Given the description of an element on the screen output the (x, y) to click on. 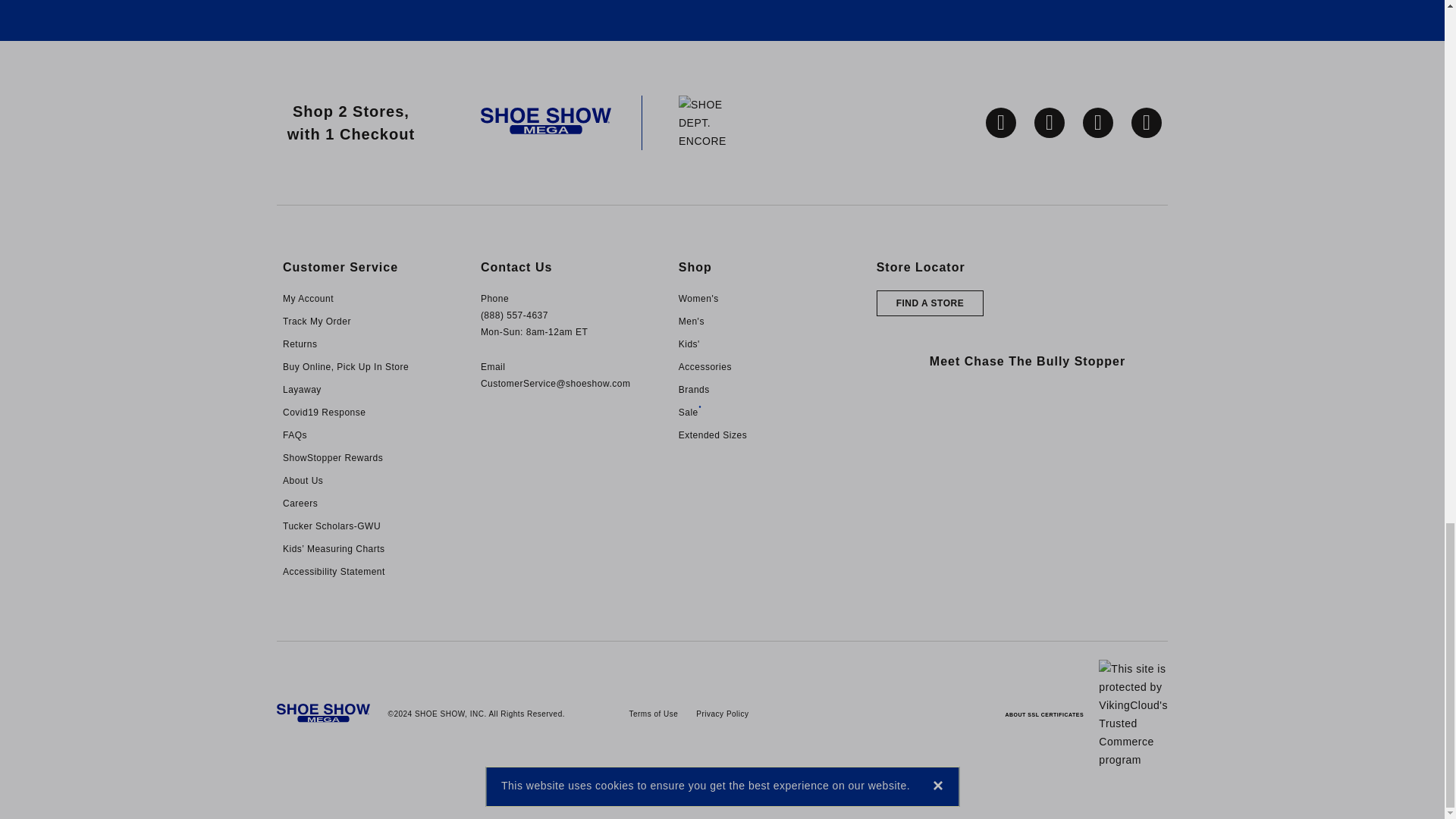
SHOE DEPT. ENCORE (715, 121)
SHOE SHOW MEGA (545, 121)
